Given the description of an element on the screen output the (x, y) to click on. 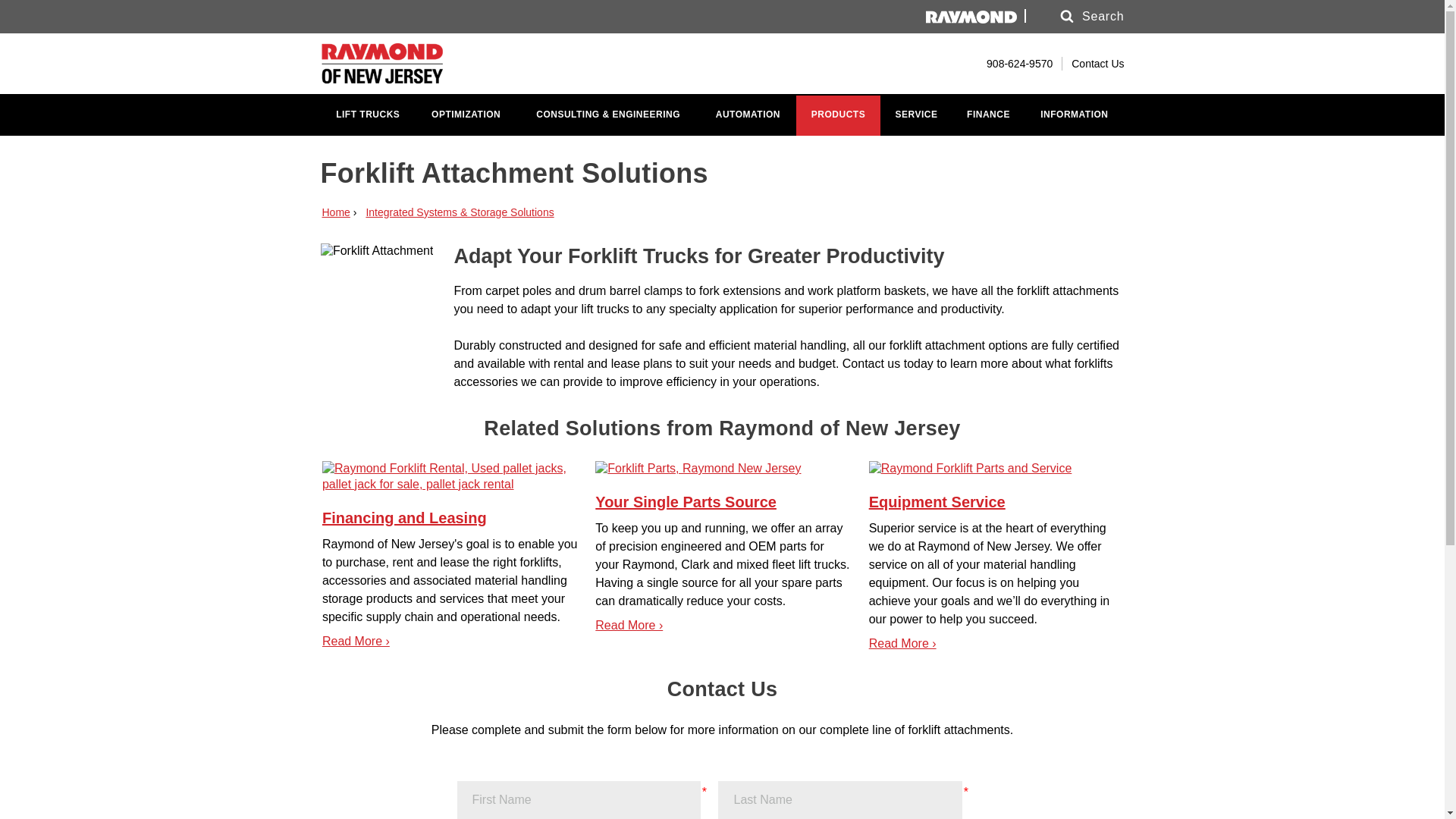
LIFT TRUCKS (367, 115)
Home (335, 212)
PRODUCTS (838, 115)
AUTOMATION (748, 115)
SERVICE (916, 115)
FINANCE (988, 115)
OPTIMIZATION (465, 115)
908-624-9570 (1011, 63)
INFORMATION (1074, 115)
Contact Us (1097, 63)
